Given the description of an element on the screen output the (x, y) to click on. 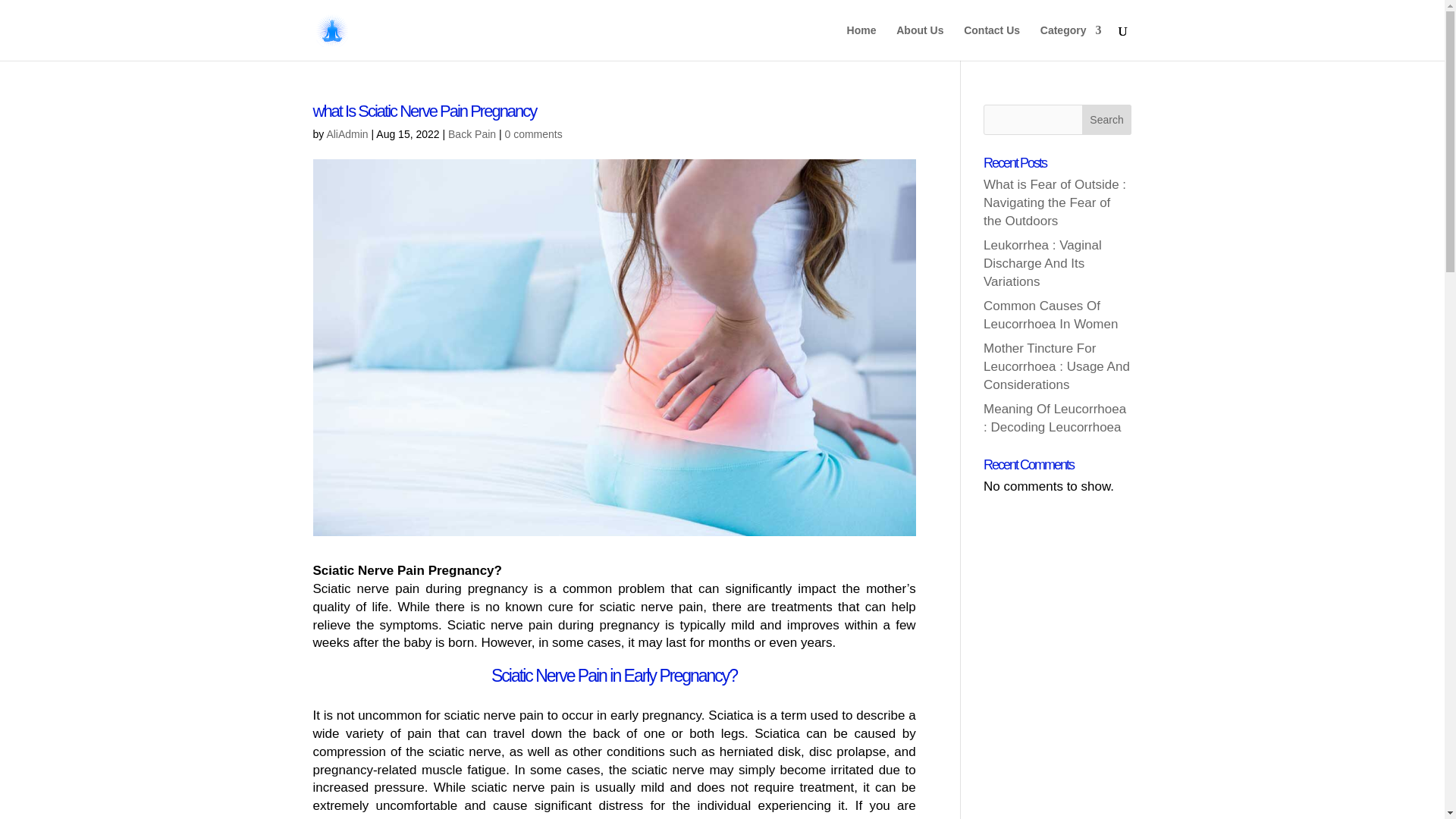
Leukorrhea : Vaginal Discharge And Its Variations (1043, 263)
AliAdmin (347, 133)
Contact Us (991, 42)
Meaning Of Leucorrhoea : Decoding Leucorrhoea (1054, 418)
Back Pain (472, 133)
Posts by AliAdmin (347, 133)
Search (1106, 119)
Mother Tincture For Leucorrhoea : Usage And Considerations (1056, 366)
Common Causes Of Leucorrhoea In Women (1051, 314)
